Given the description of an element on the screen output the (x, y) to click on. 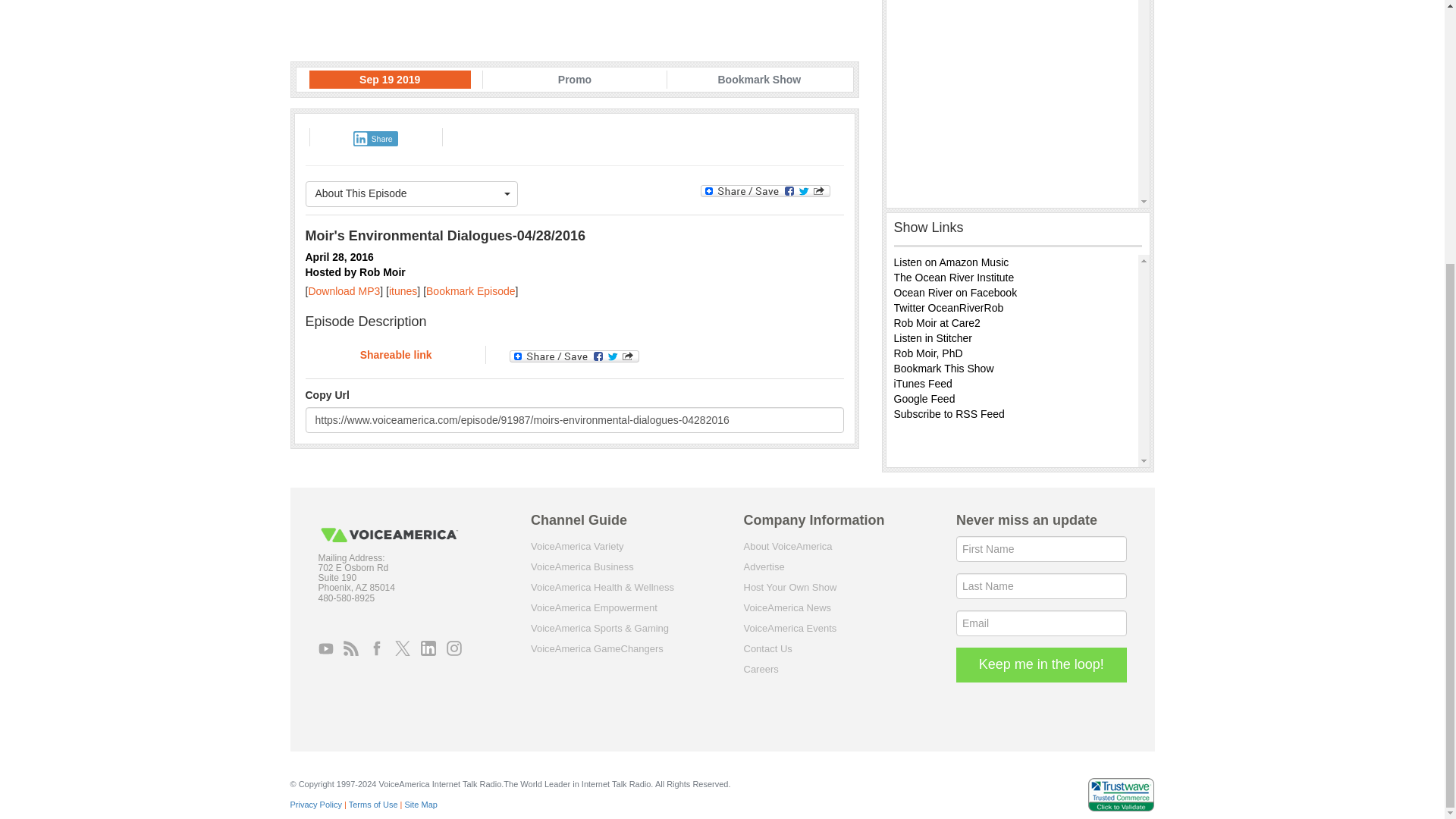
Bookmark Show (759, 79)
Share (375, 138)
Download MP3 (343, 291)
Sep 19 2019 (389, 79)
Promo (575, 79)
About This Episode (411, 193)
itunes (402, 291)
